Given the description of an element on the screen output the (x, y) to click on. 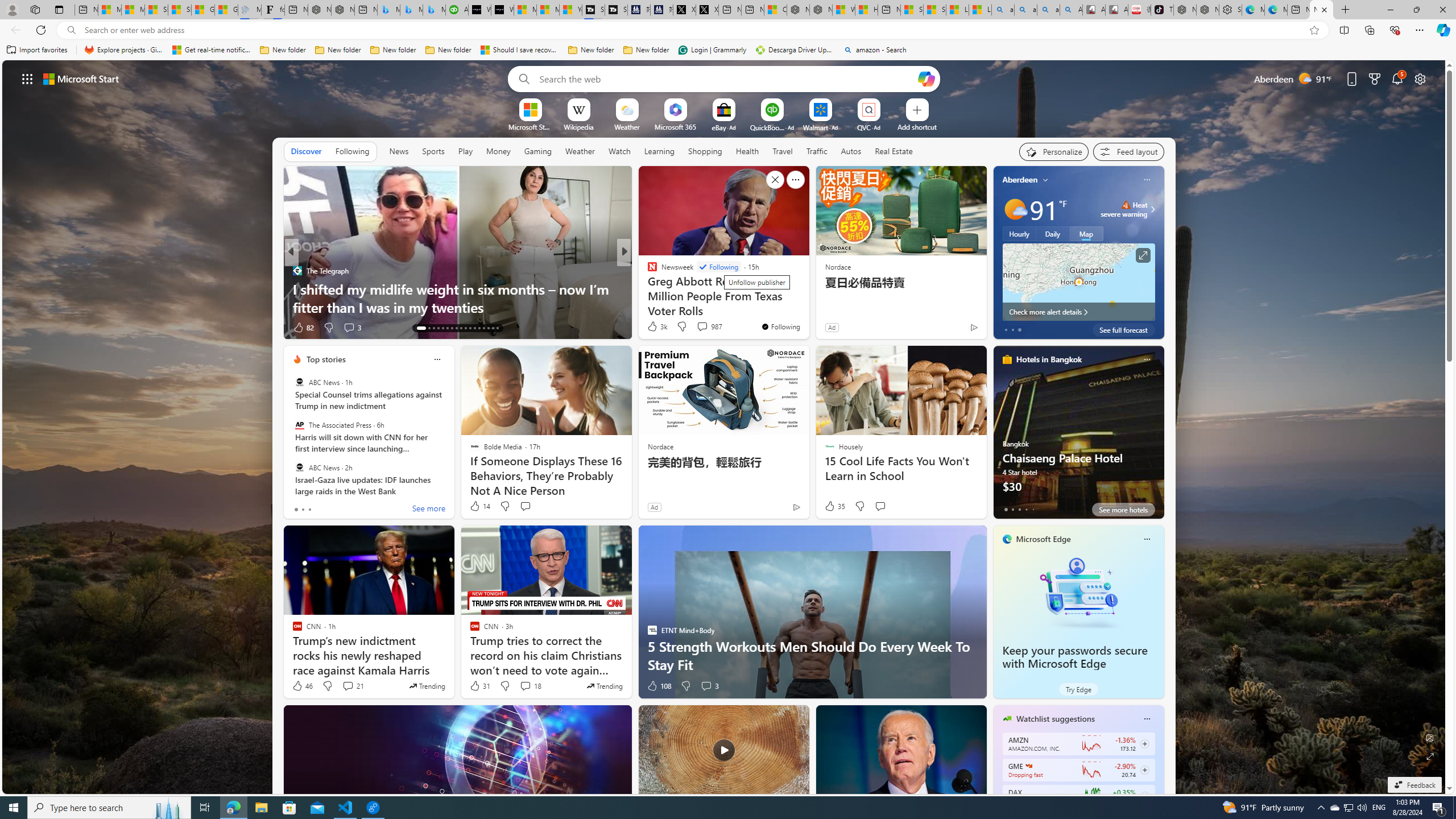
amazon - Search Images (1048, 9)
Click to see more information (1142, 255)
Autos (850, 151)
The Telegraph (296, 270)
New folder (646, 49)
AutomationID: tab-19 (451, 328)
Newsweek (647, 270)
View comments 21 Comment (352, 685)
Login | Grammarly (712, 49)
View comments 174 Comment (709, 327)
